Given the description of an element on the screen output the (x, y) to click on. 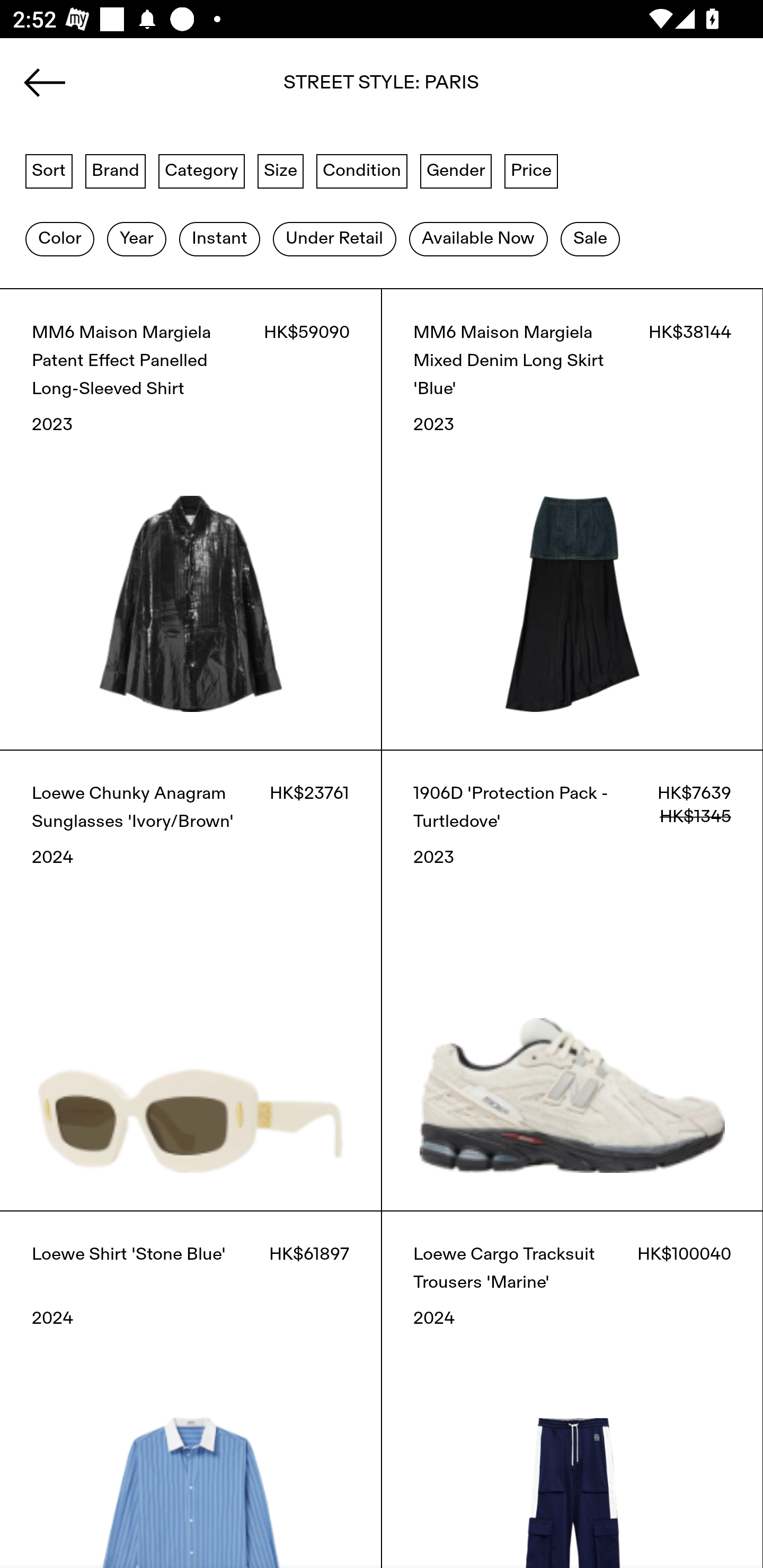
Search (381, 88)
Sort (48, 170)
Brand (115, 170)
Category (201, 170)
Size (280, 170)
Condition (361, 170)
Gender (455, 170)
Price (530, 170)
Color (59, 239)
Year (136, 239)
Instant (219, 239)
Under Retail (334, 239)
Available Now (477, 239)
Sale (589, 239)
Loewe Shirt 'Stone Blue' HK$61897 2024 (190, 1389)
